Given the description of an element on the screen output the (x, y) to click on. 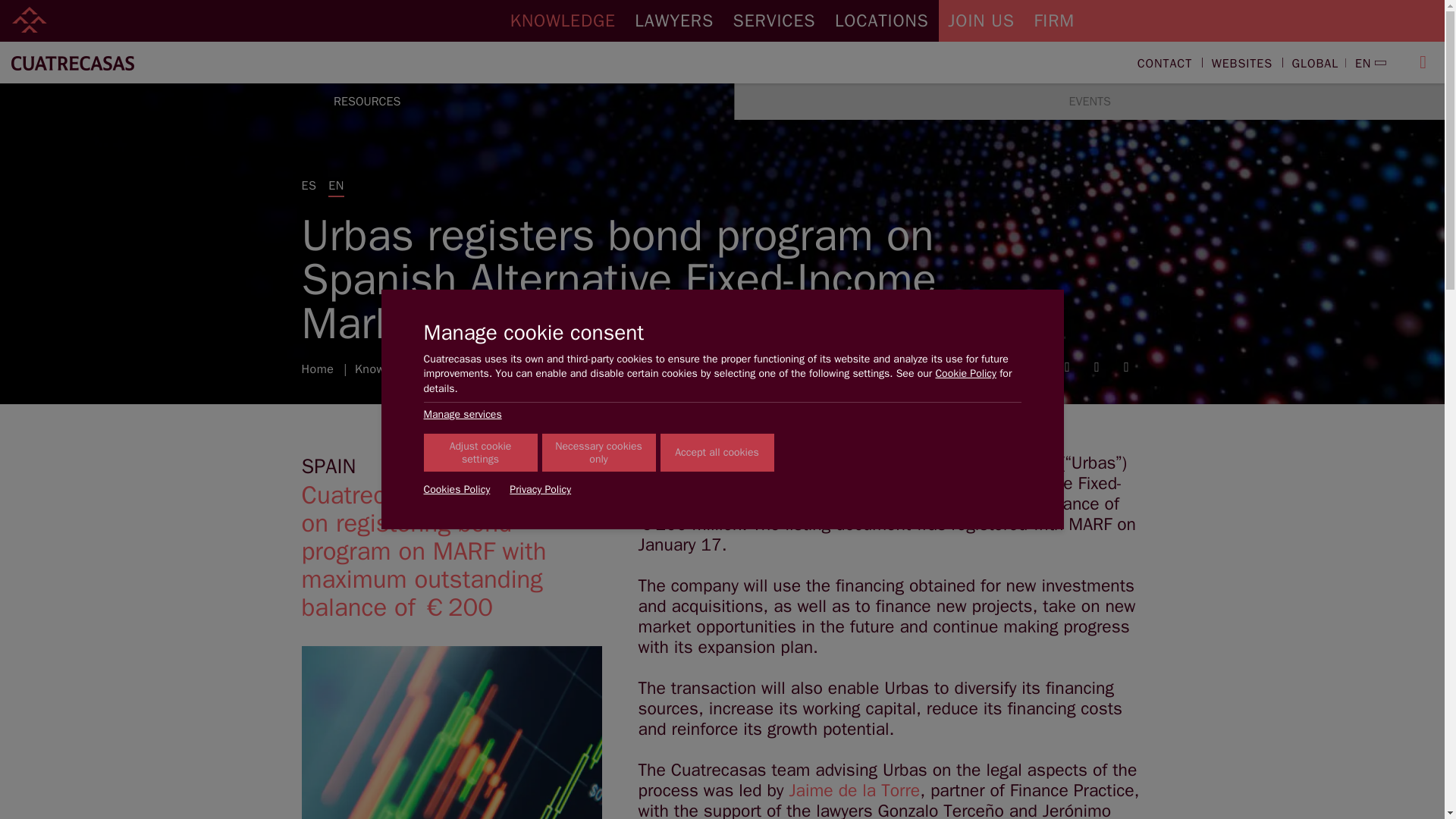
JOIN US (982, 20)
KNOWLEDGE (563, 20)
LOCATIONS (881, 20)
CONTACT (1164, 63)
WEBSITES (1241, 63)
FIRM (1054, 20)
SERVICES (774, 20)
GLOBAL EN (1331, 63)
LAWYERS (674, 20)
